Given the description of an element on the screen output the (x, y) to click on. 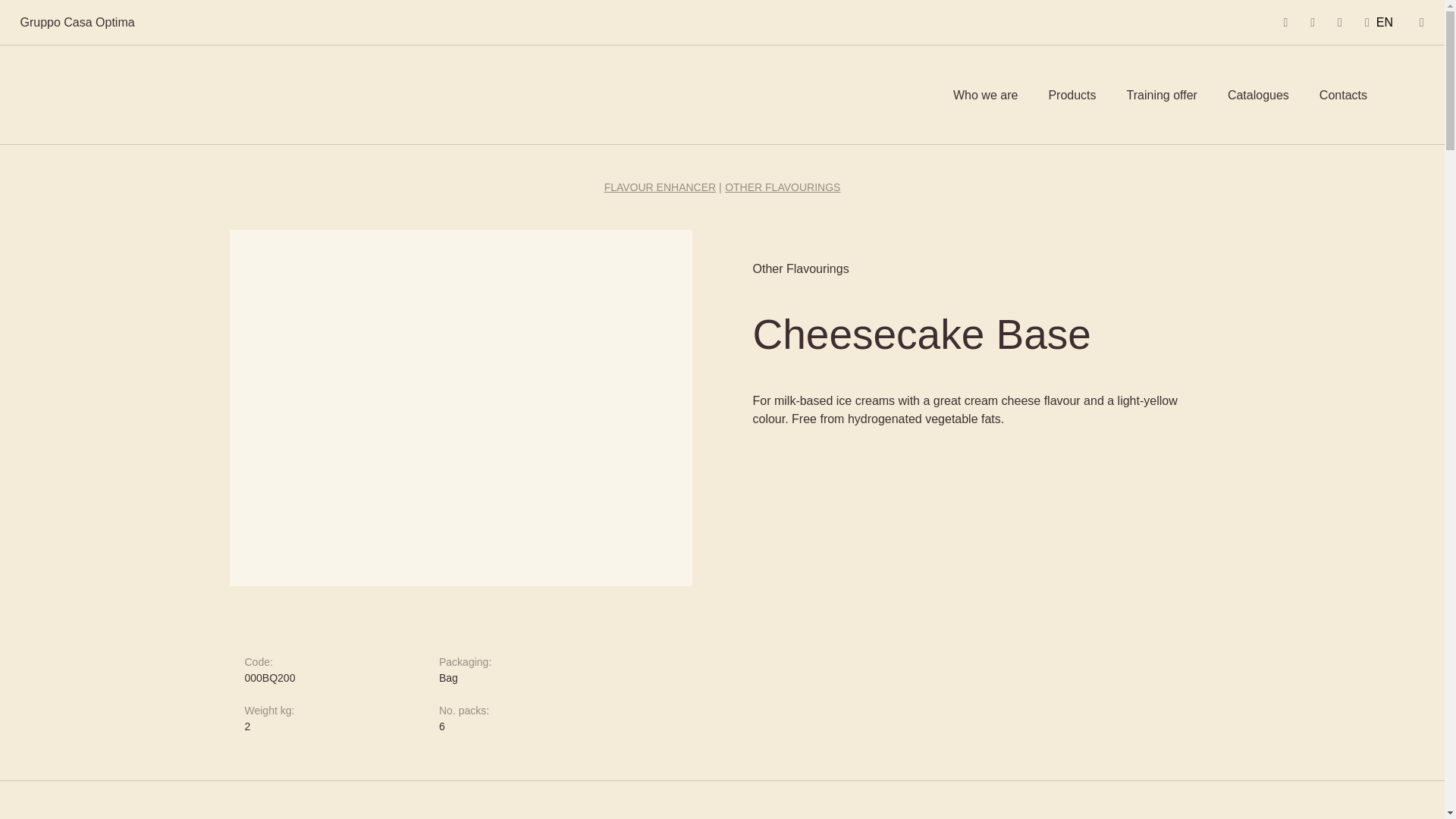
OTHER FLAVOURINGS (782, 186)
Training offer (1161, 95)
Who we are (985, 95)
FLAVOUR ENHANCER (660, 186)
Contacts (1343, 95)
Catalogues (1257, 95)
Gruppo Casa Optima (76, 21)
